Given the description of an element on the screen output the (x, y) to click on. 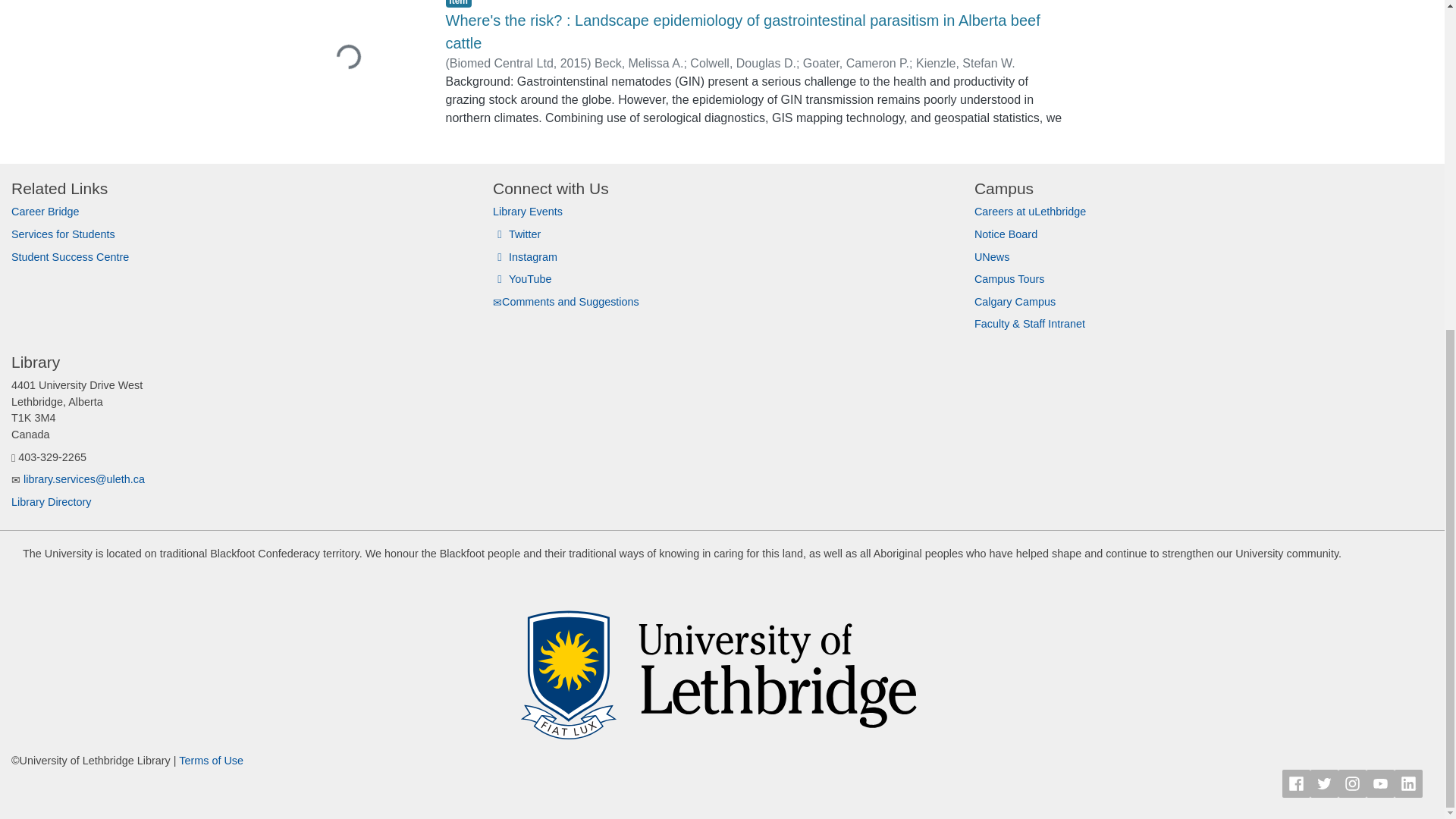
Student Success Centre (70, 256)
YouTube Link (1380, 783)
Facebook Link (1296, 783)
Instagram Link (1352, 783)
Library Events (527, 211)
The University of Lethbridge (721, 664)
LinkedIn Link (1408, 783)
Loading... (362, 62)
Services for Students (63, 234)
Career Bridge (45, 211)
